Given the description of an element on the screen output the (x, y) to click on. 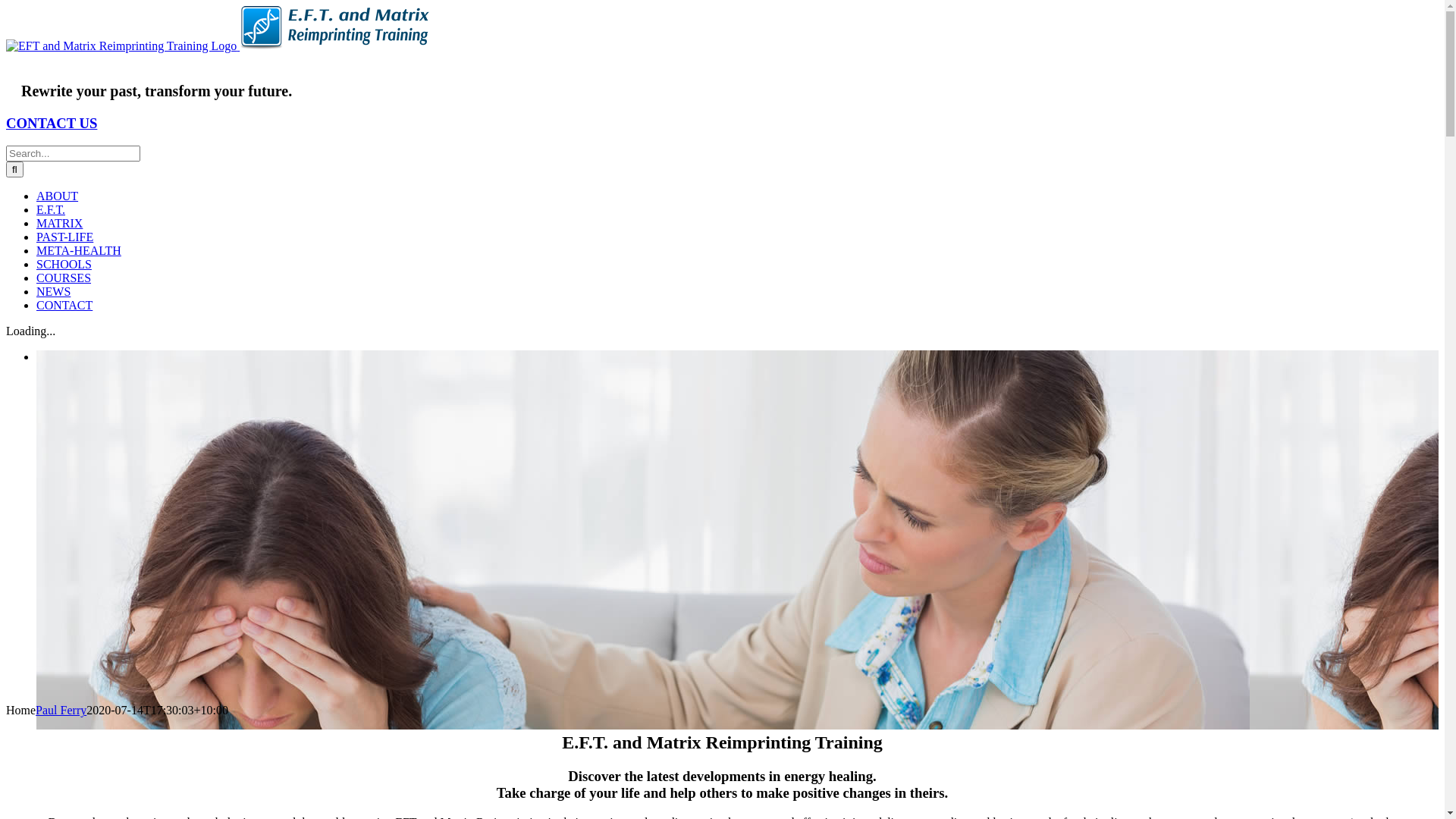
COURSES Element type: text (63, 277)
META-HEALTH Element type: text (78, 250)
Skip to content Element type: text (5, 5)
SCHOOLS Element type: text (63, 263)
PAST-LIFE Element type: text (64, 236)
ABOUT Element type: text (57, 195)
NEWS Element type: text (53, 291)
CONTACT Element type: text (64, 304)
E.F.T. Element type: text (50, 209)
CONTACT US Element type: text (51, 123)
Paul Ferry Element type: text (60, 709)
MATRIX Element type: text (59, 222)
